Given the description of an element on the screen output the (x, y) to click on. 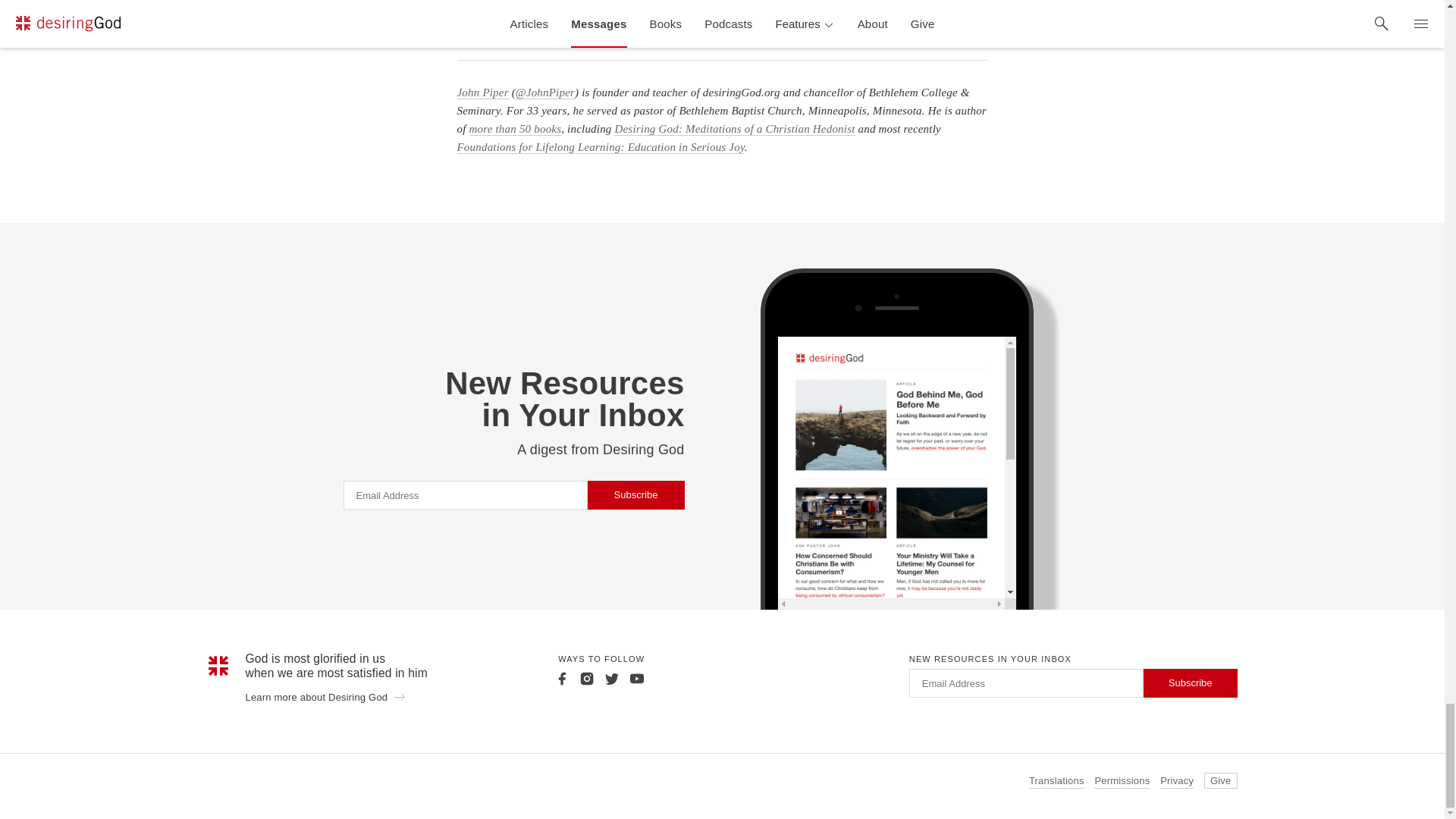
Arrow (399, 696)
Twitter (612, 678)
Mark - Large (218, 665)
